Given the description of an element on the screen output the (x, y) to click on. 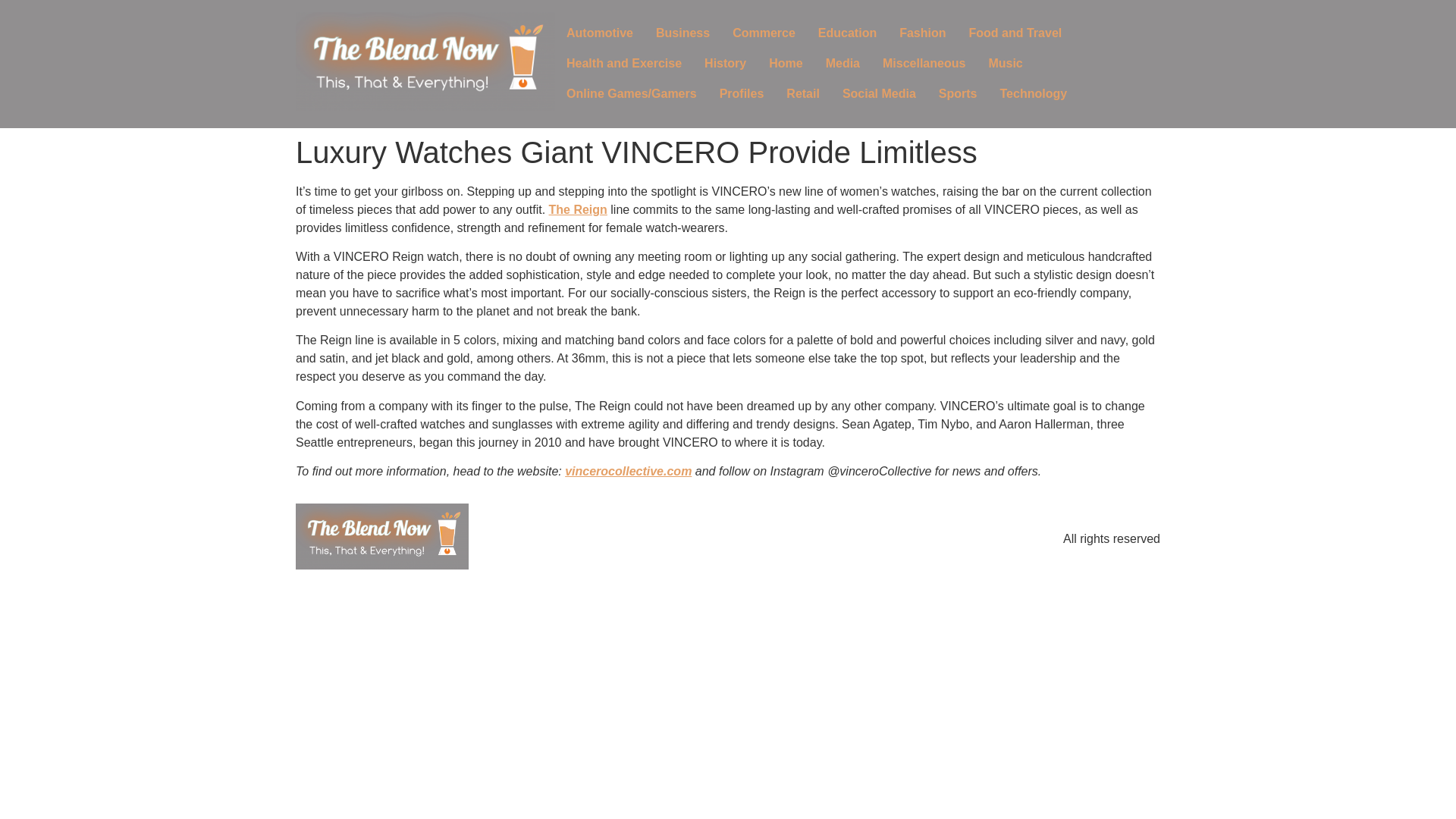
Automotive (599, 33)
Technology (1033, 93)
Food and Travel (1016, 33)
The Reign (577, 209)
Miscellaneous (923, 63)
Fashion (922, 33)
Education (847, 33)
History (725, 63)
Health and Exercise (623, 63)
Profiles (741, 93)
Retail (802, 93)
Music (1004, 63)
Home (785, 63)
Media (841, 63)
Business (682, 33)
